Given the description of an element on the screen output the (x, y) to click on. 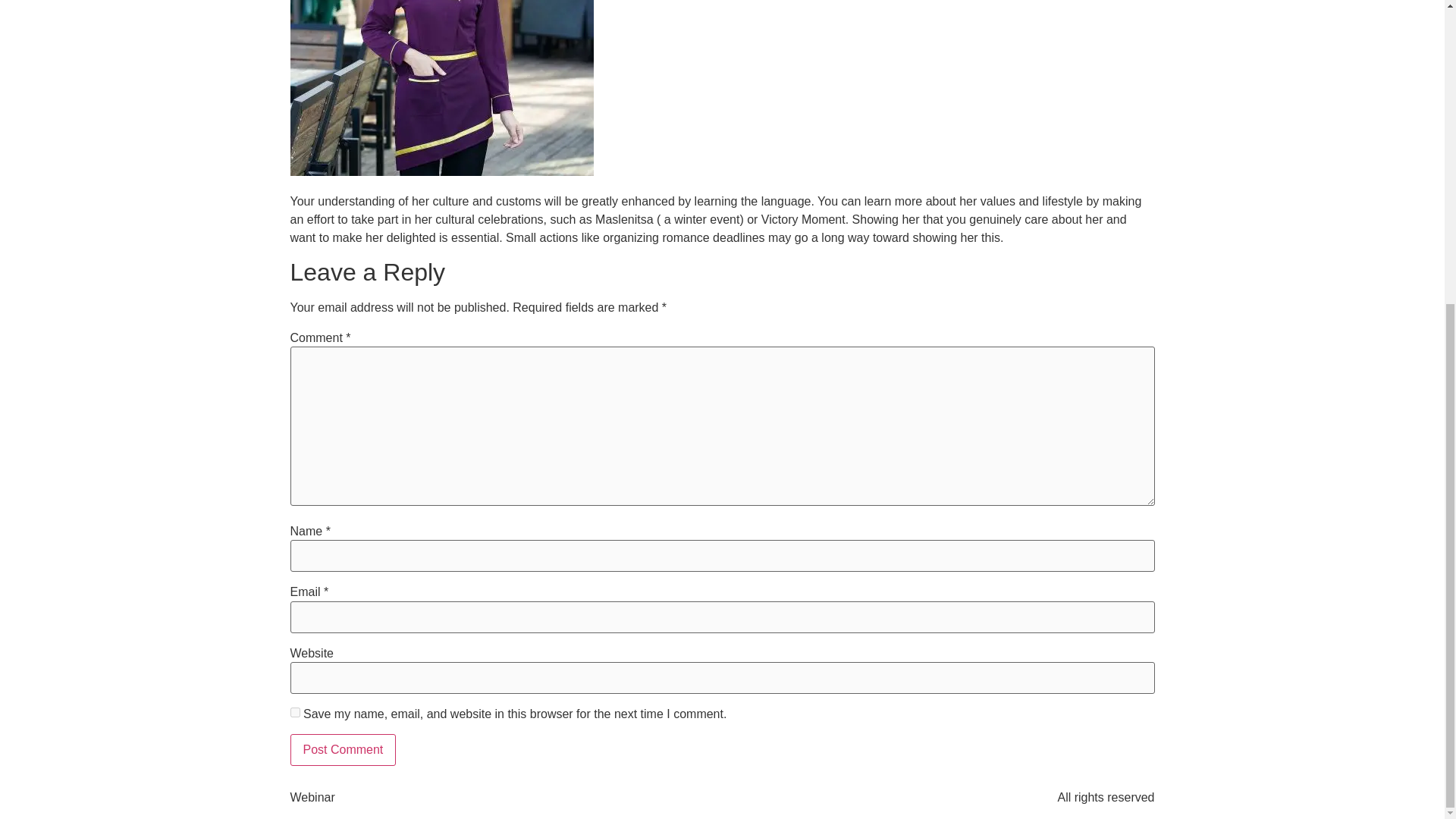
Post Comment (342, 749)
yes (294, 712)
Post Comment (342, 749)
